Given the description of an element on the screen output the (x, y) to click on. 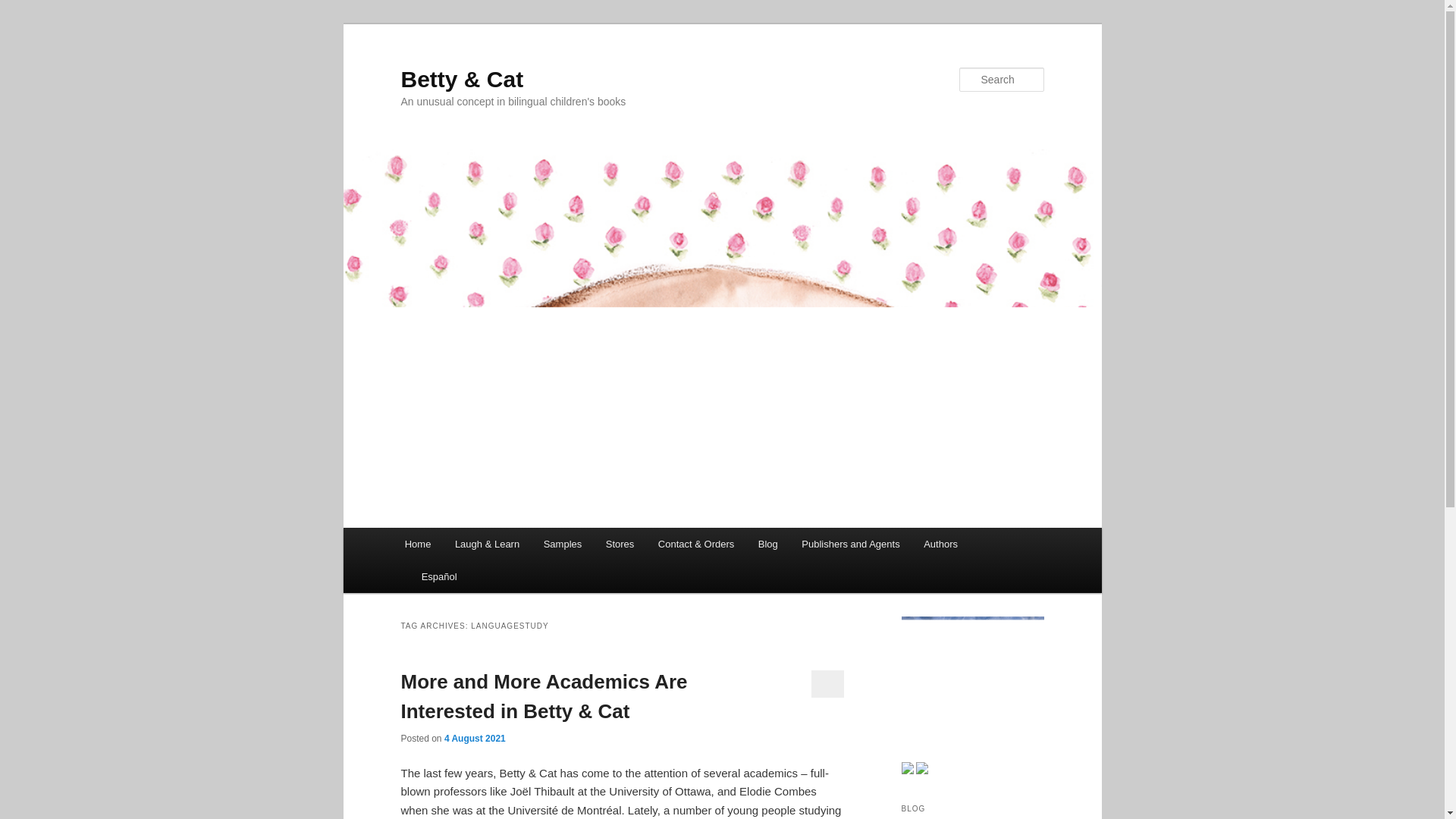
Blog (767, 543)
4 August 2021 (474, 738)
Publishers and Agents (851, 543)
Samples (562, 543)
10:20 (474, 738)
Authors (940, 543)
Search (24, 8)
Home (417, 543)
Stores (620, 543)
